Given the description of an element on the screen output the (x, y) to click on. 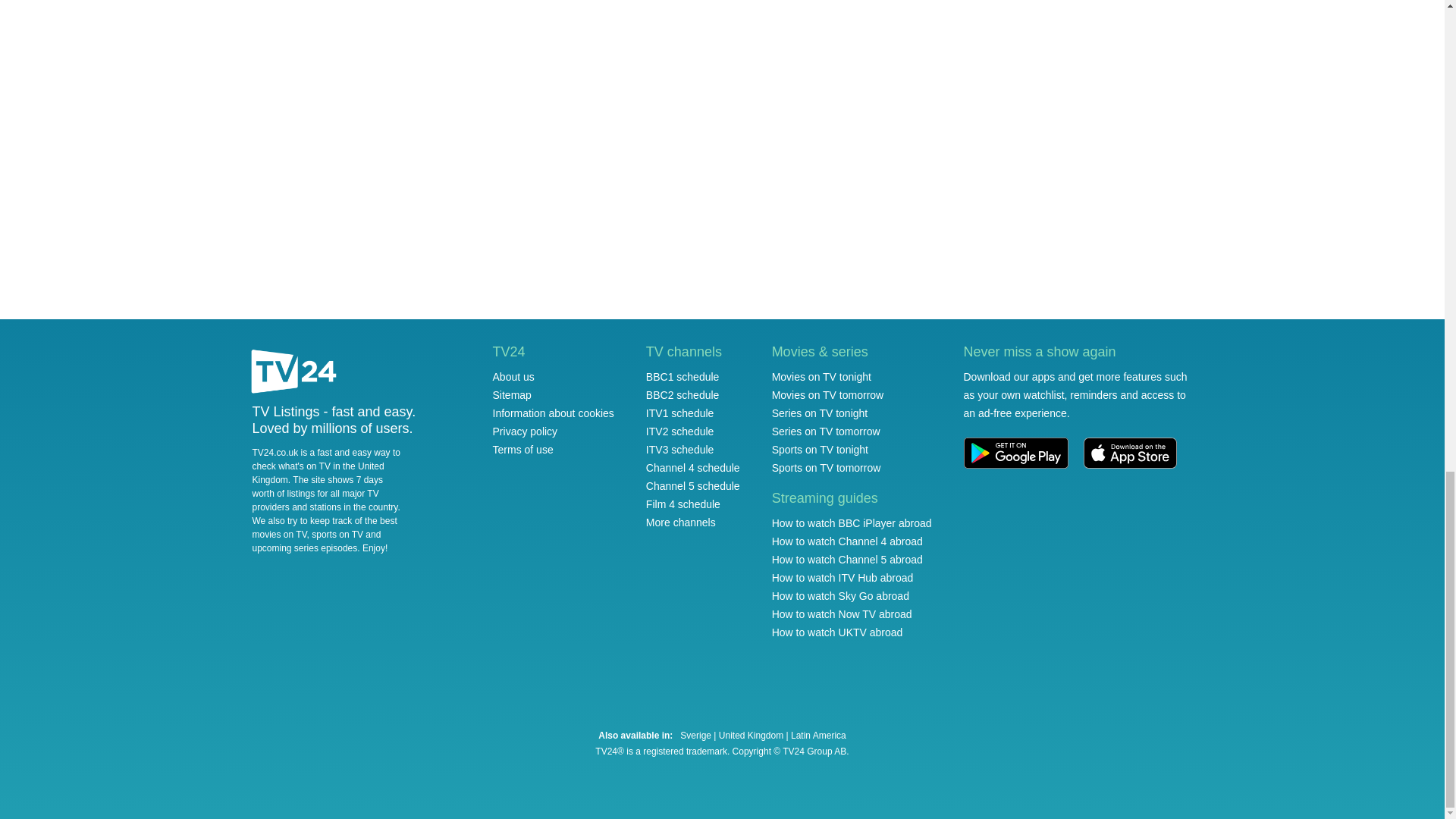
Information about cookies (553, 413)
ITV3 schedule (680, 449)
Channel 4 schedule (692, 467)
BBC1 schedule (682, 377)
ITV3 schedule (680, 449)
BBC2 schedule (682, 395)
More channels (681, 522)
ITV1 schedule (680, 413)
More channels (681, 522)
Terms of use (523, 449)
